Given the description of an element on the screen output the (x, y) to click on. 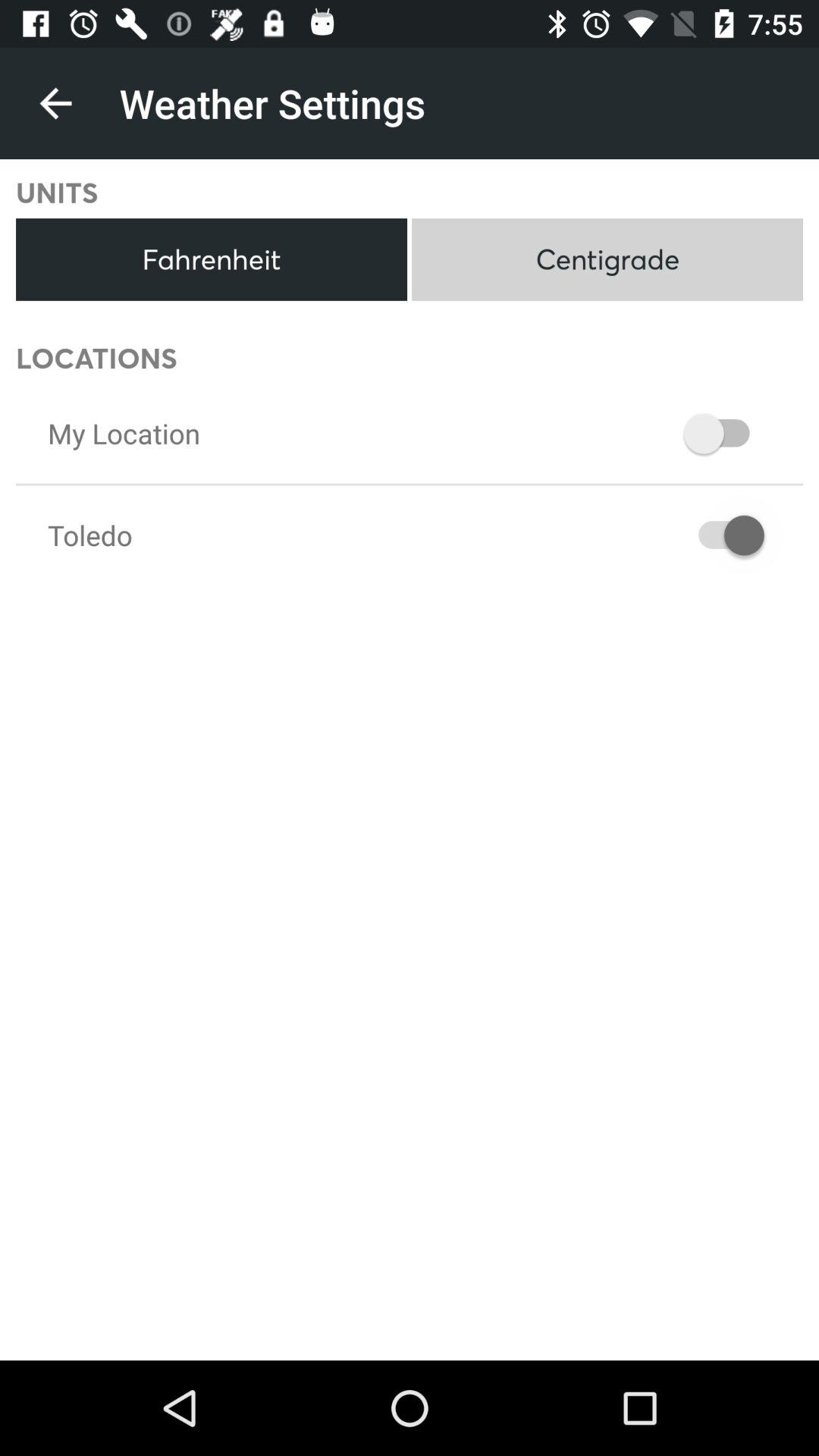
select the icon next to centigrade icon (211, 259)
